Given the description of an element on the screen output the (x, y) to click on. 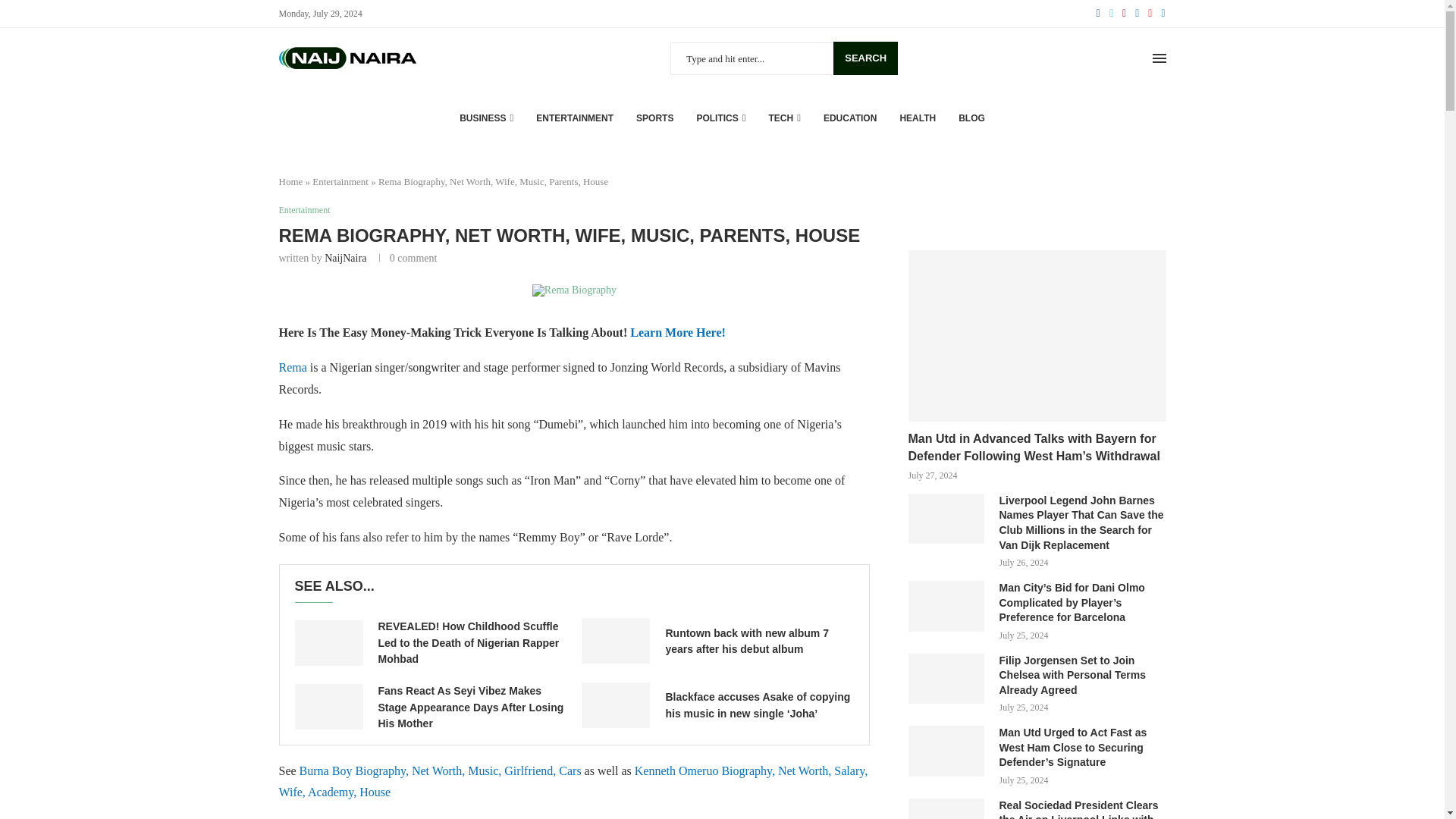
Rema Biography, Net Worth, Wife, Music, Parents-min (573, 290)
BUSINESS (486, 118)
TECH (784, 118)
POLITICS (720, 118)
BLOG (971, 118)
SEARCH (865, 57)
ENTERTAINMENT (573, 118)
HEALTH (917, 118)
EDUCATION (850, 118)
Runtown back with new album 7 years after his debut album (614, 640)
SPORTS (654, 118)
